Given the description of an element on the screen output the (x, y) to click on. 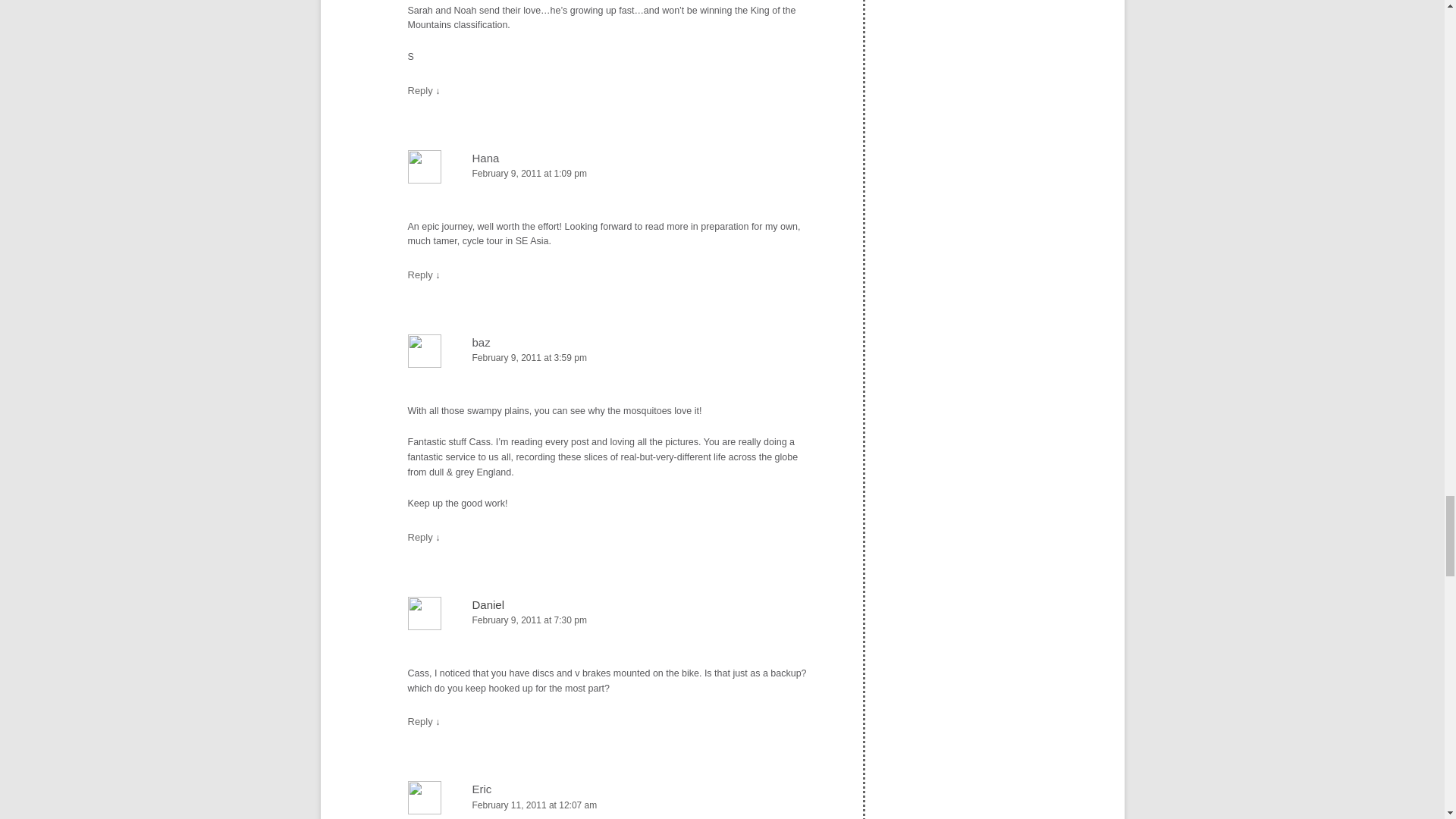
February 9, 2011 at 7:30 pm (611, 620)
Reply (419, 536)
Reply (419, 274)
February 9, 2011 at 1:09 pm (611, 173)
Daniel (487, 604)
February 9, 2011 at 3:59 pm (611, 358)
Reply (419, 90)
